Given the description of an element on the screen output the (x, y) to click on. 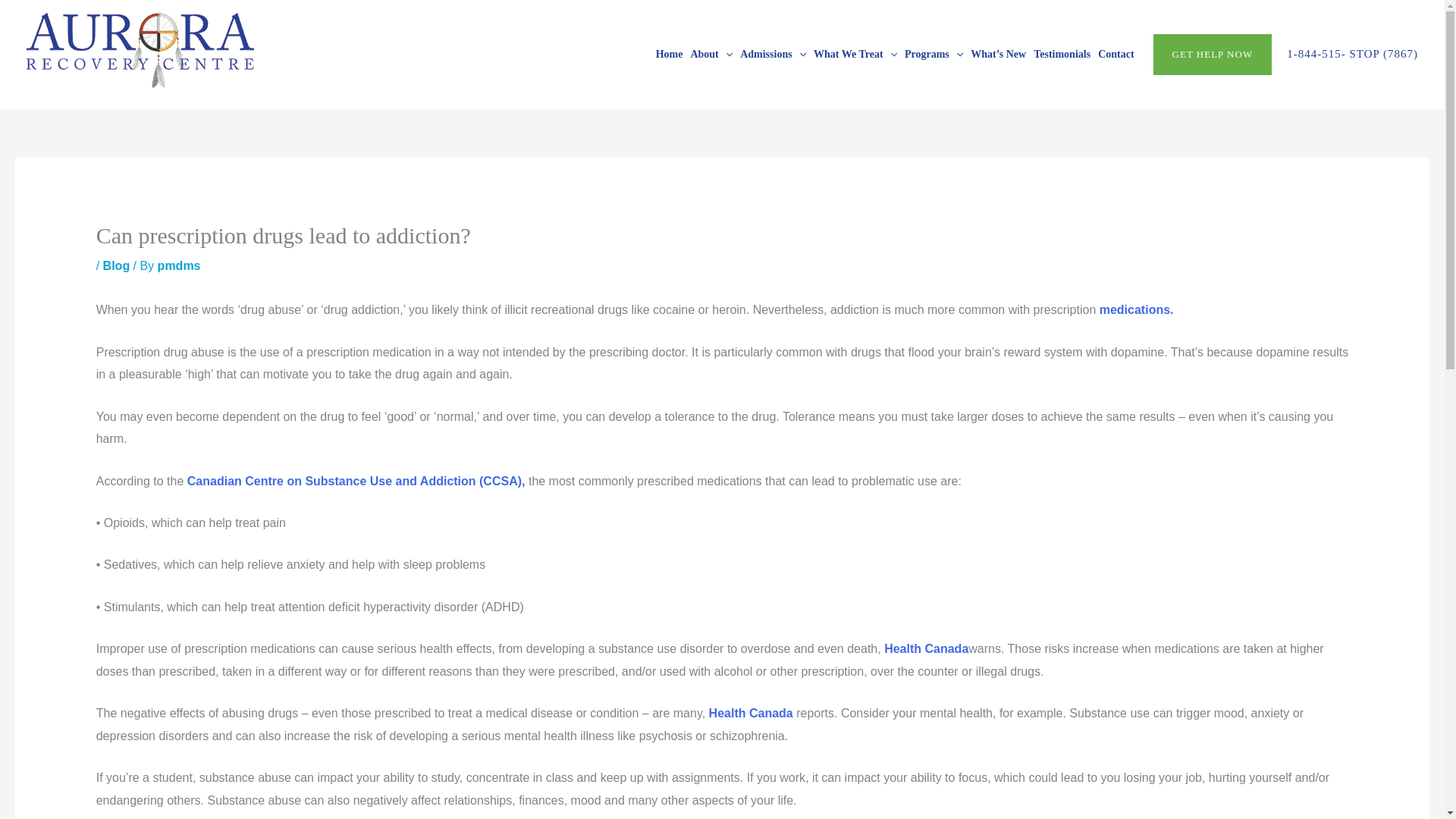
Contact (1115, 53)
Testimonials (1061, 53)
About (710, 53)
GET HELP NOW (1212, 54)
What We Treat (855, 53)
Programs (933, 53)
Home (669, 53)
View all posts by pmdms (178, 265)
Admissions (772, 53)
